Given the description of an element on the screen output the (x, y) to click on. 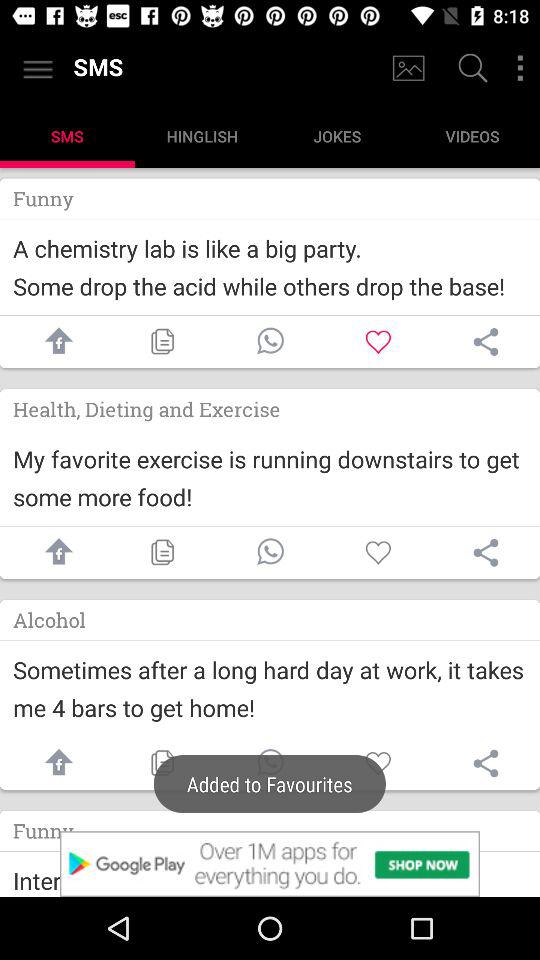
go search option (470, 70)
